Given the description of an element on the screen output the (x, y) to click on. 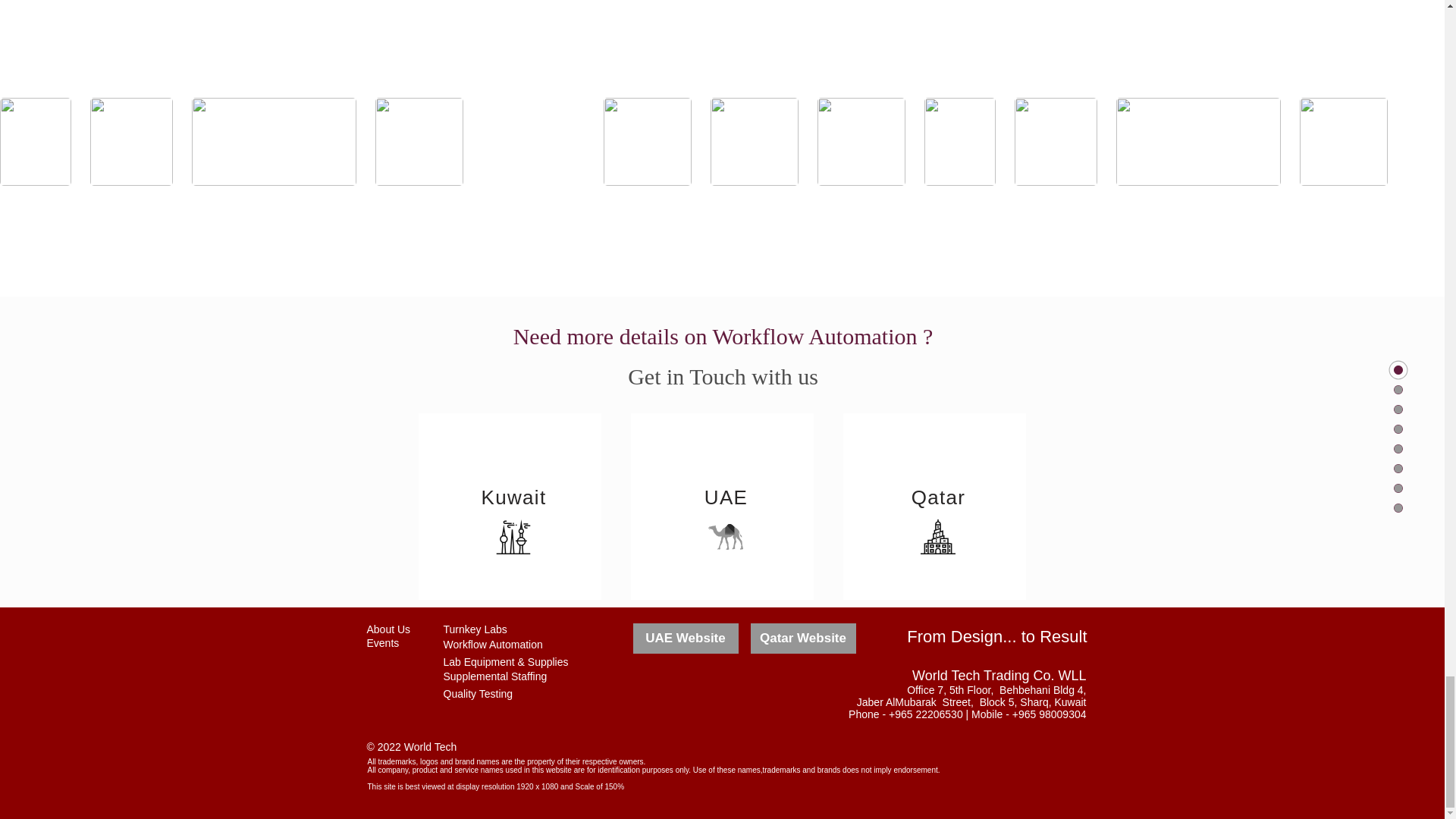
Workflow Automation (491, 644)
Supplemental Staffing (494, 676)
Turnkey Labs (474, 629)
About Us (388, 629)
Qatar Website (803, 638)
UAE Website (684, 638)
Quality Testing (477, 693)
Events (382, 643)
